Given the description of an element on the screen output the (x, y) to click on. 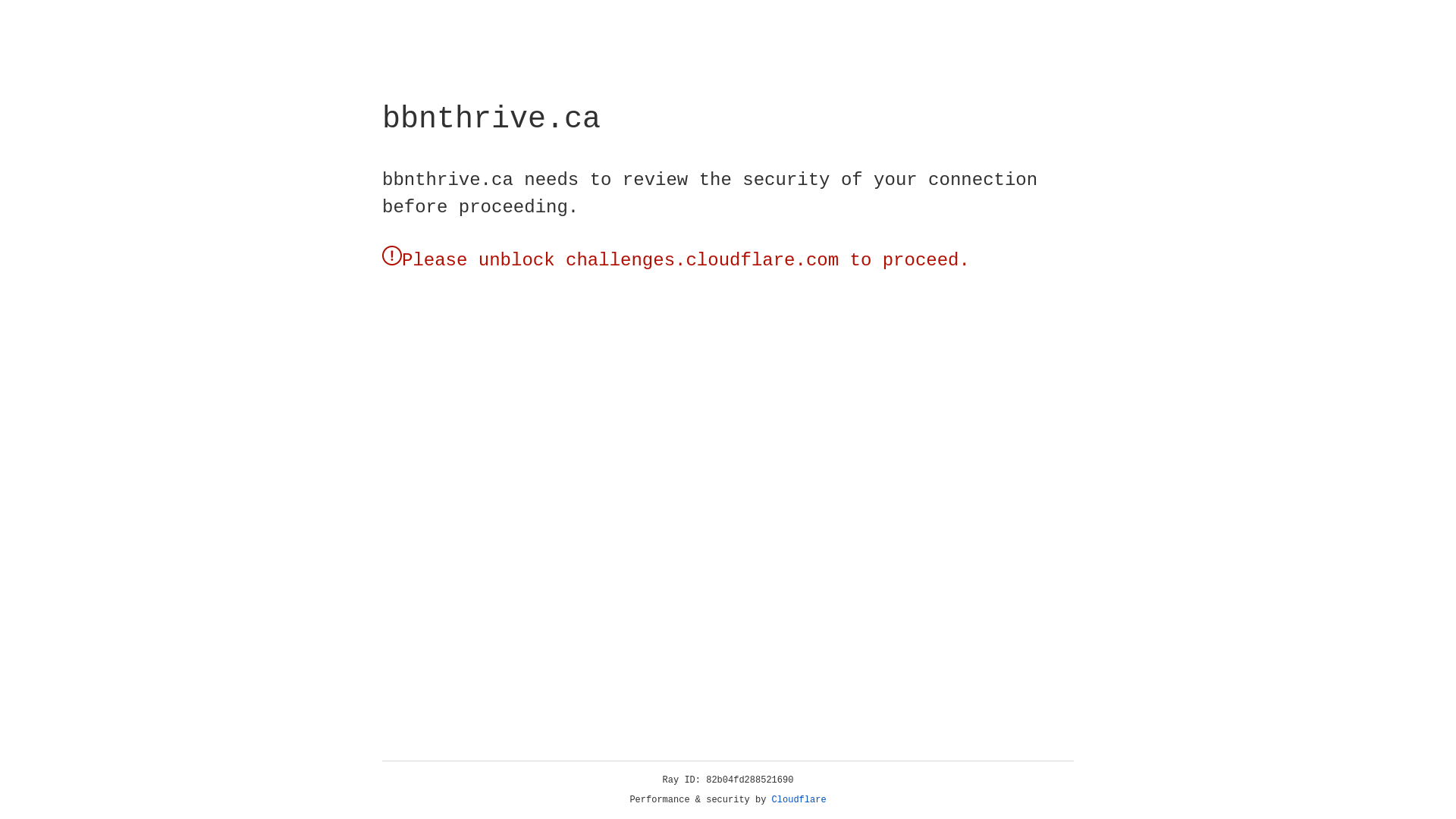
Cloudflare Element type: text (798, 799)
